Given the description of an element on the screen output the (x, y) to click on. 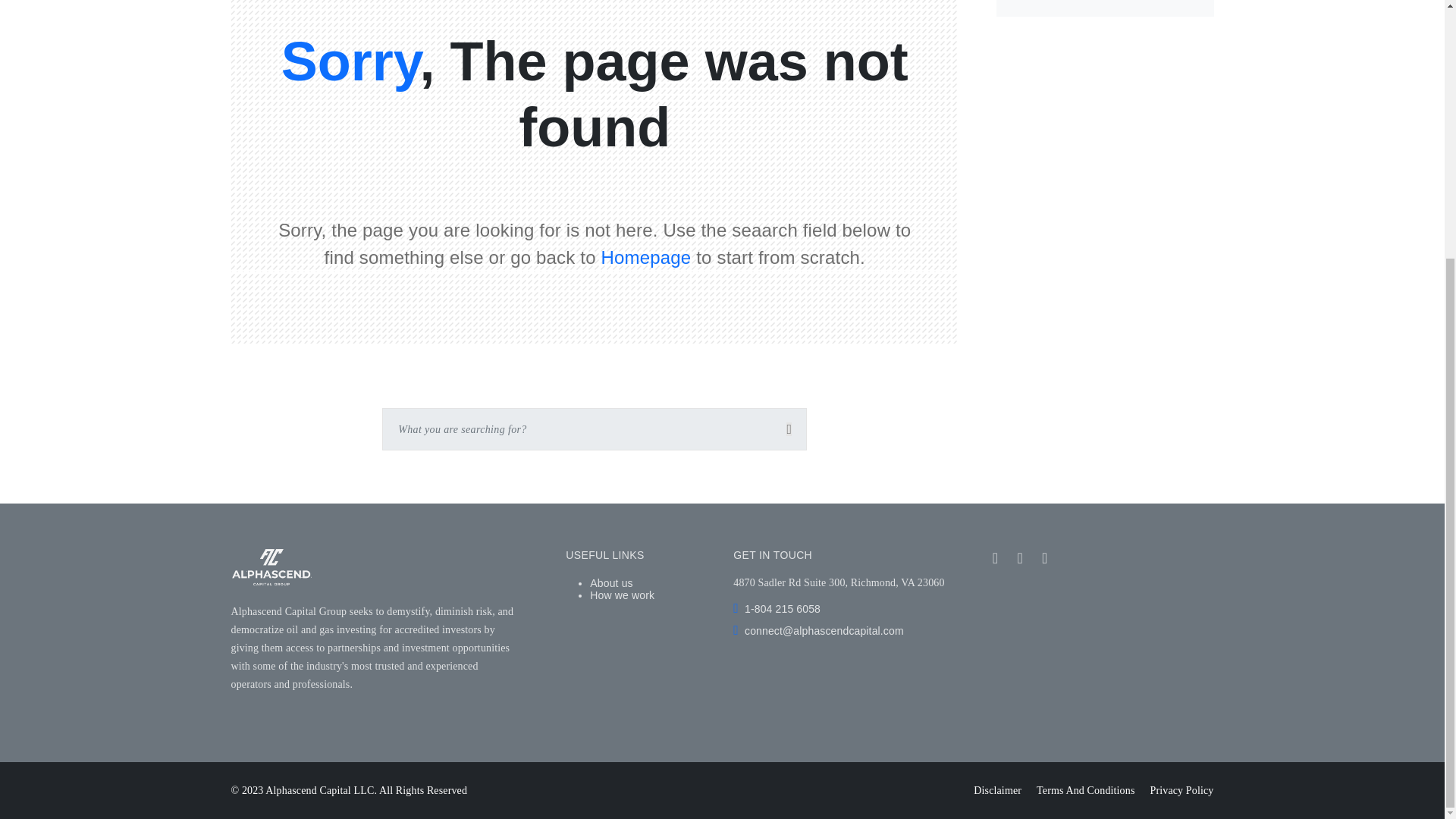
How we work (621, 594)
Disclaimer (998, 790)
About us (610, 582)
Terms And Conditions (1085, 790)
Homepage (646, 257)
Privacy Policy (1181, 790)
